Given the description of an element on the screen output the (x, y) to click on. 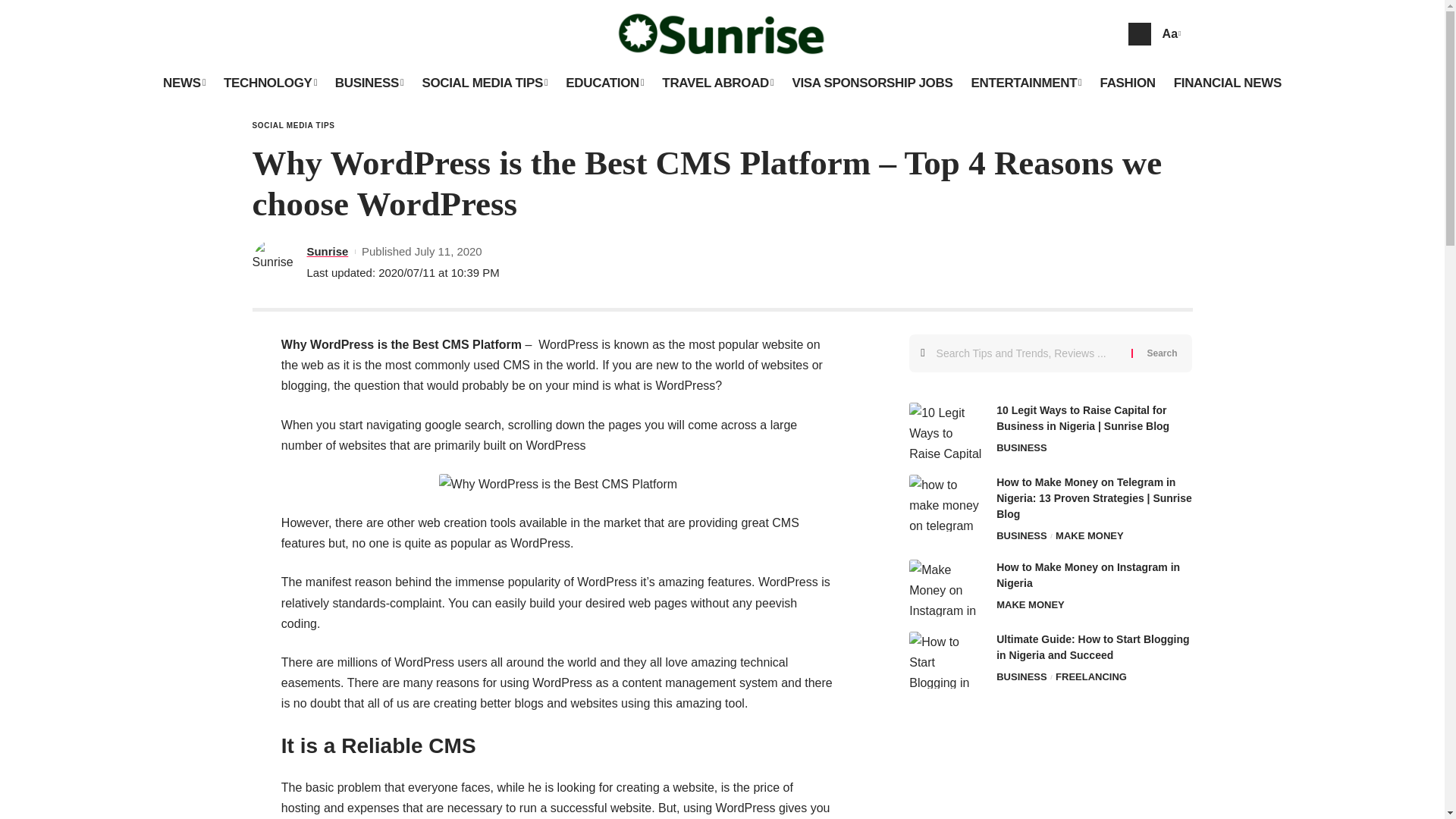
NEWS (184, 82)
SunRise (722, 33)
Search (1161, 353)
BUSINESS (369, 82)
TECHNOLOGY (270, 82)
Aa (1169, 33)
